Given the description of an element on the screen output the (x, y) to click on. 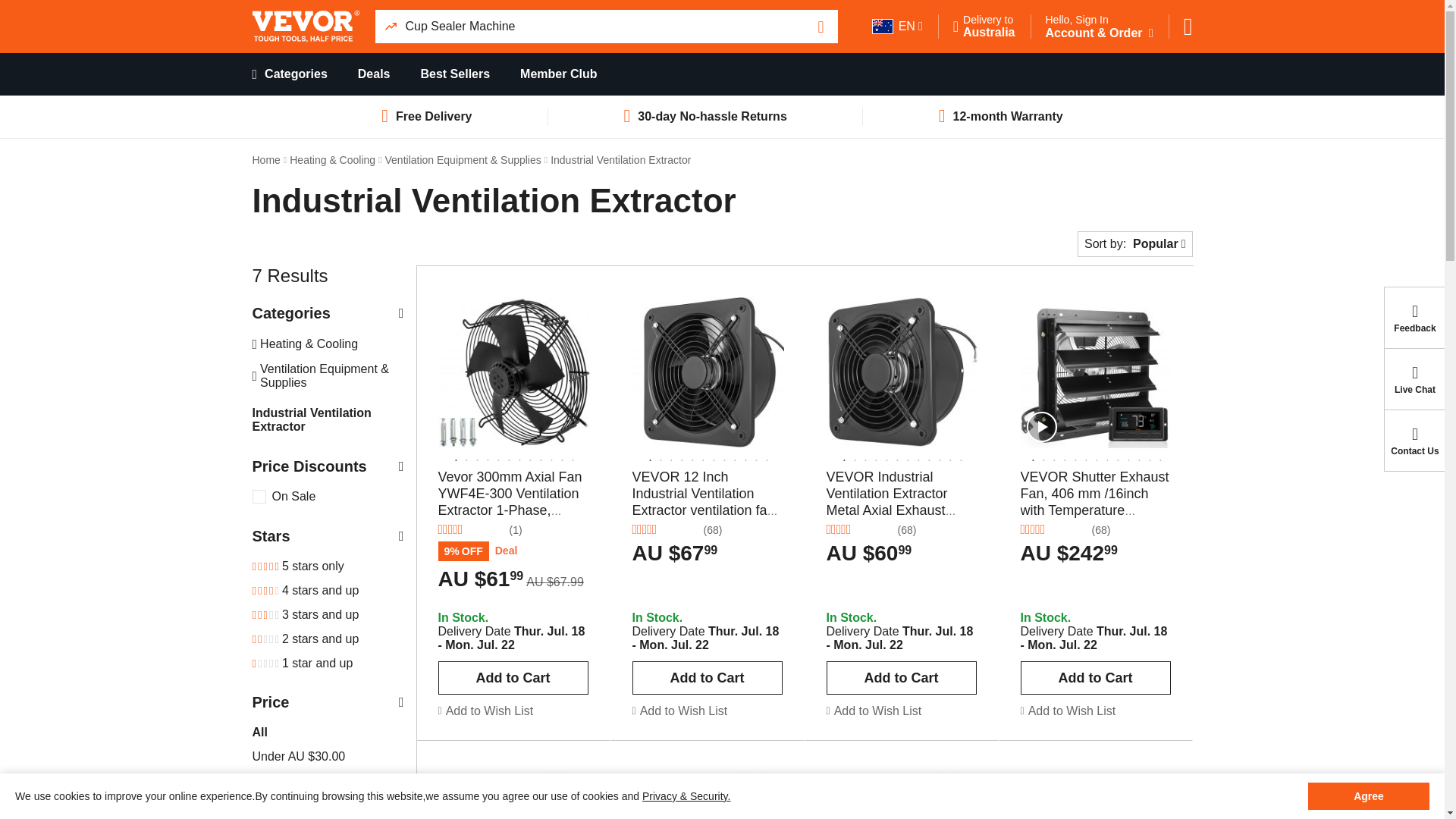
Australia (988, 26)
